Given the description of an element on the screen output the (x, y) to click on. 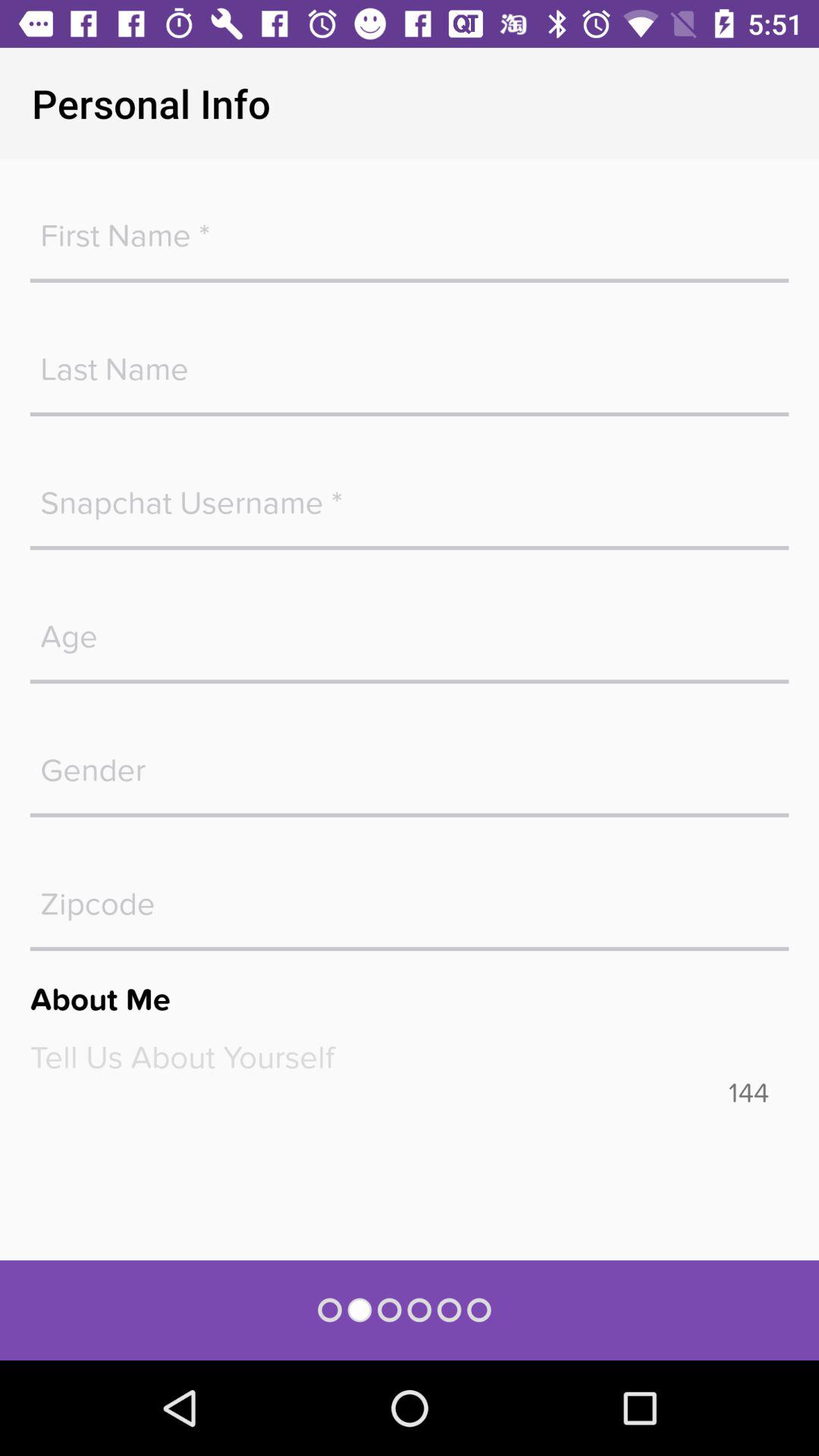
enter your first name (409, 227)
